Given the description of an element on the screen output the (x, y) to click on. 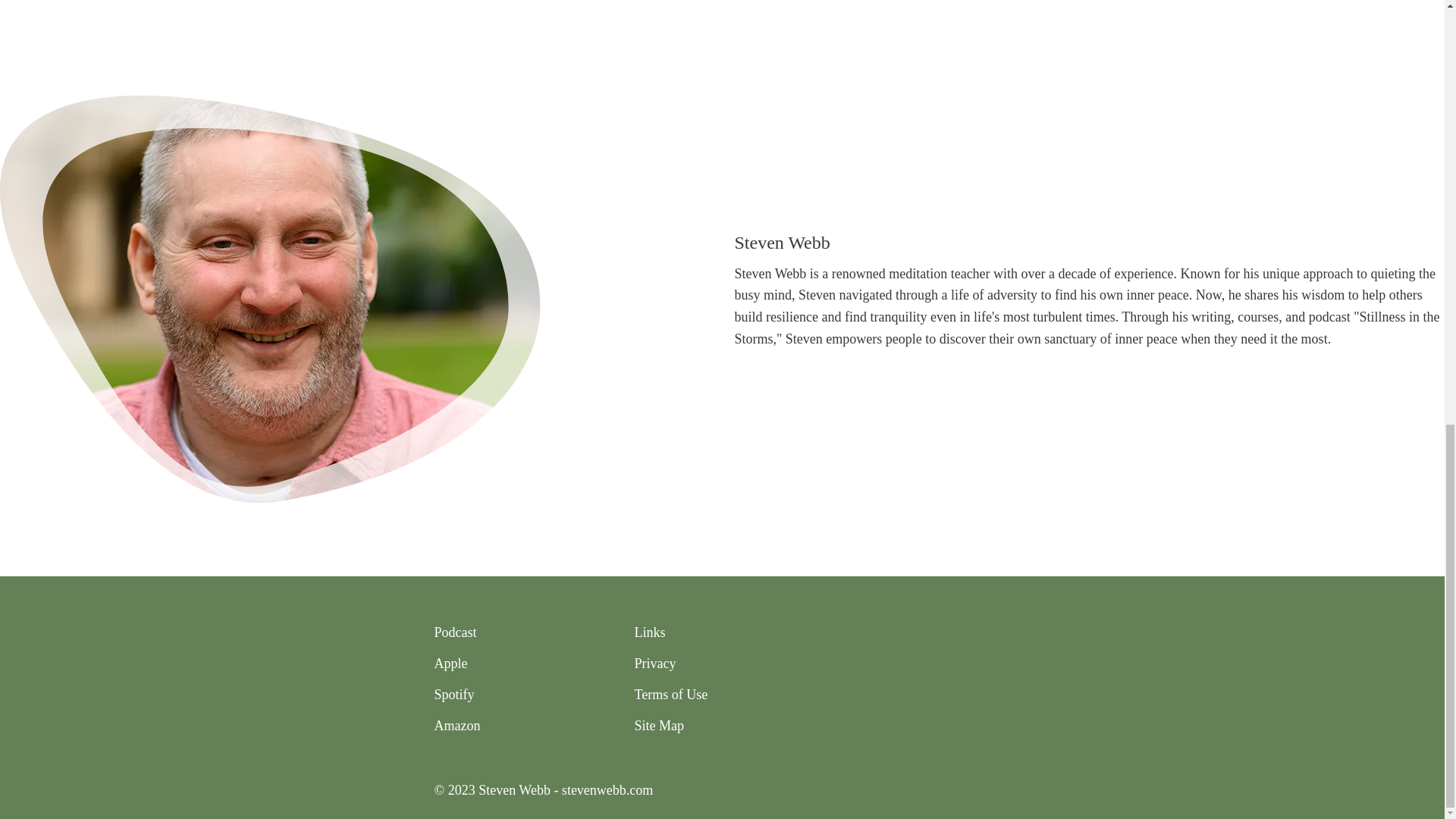
Terms of Use (670, 694)
Apple (450, 663)
Spotify (453, 694)
Site Map (658, 725)
Amazon (456, 725)
Privacy (654, 663)
